Given the description of an element on the screen output the (x, y) to click on. 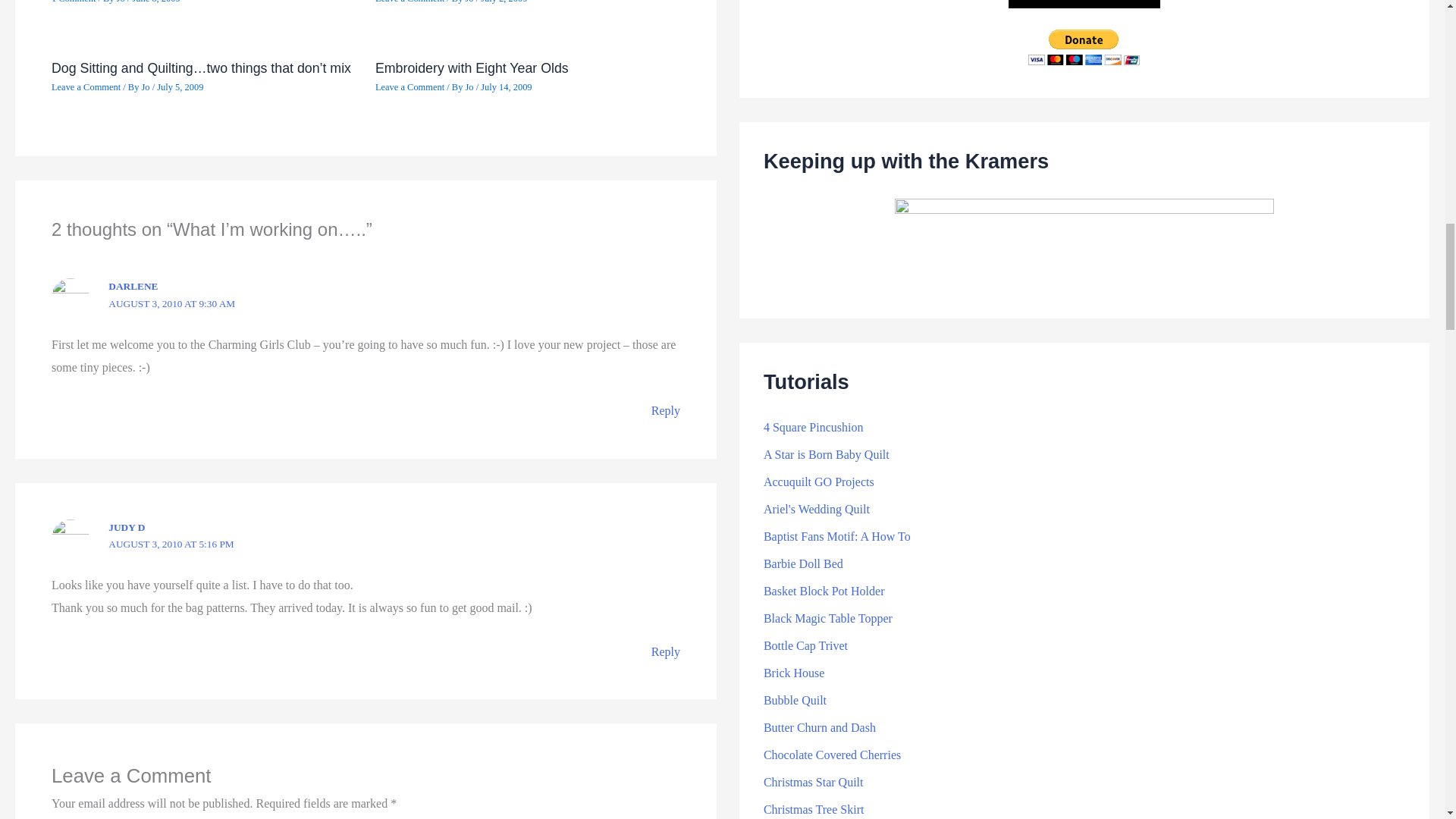
Bottle Cap Trivet Tutorial (804, 645)
View all posts by Jo (122, 2)
PayPal - The safer, easier way to pay online! (1083, 47)
View all posts by Jo (470, 86)
View all posts by Jo (146, 86)
View all posts by Jo (470, 2)
